Given the description of an element on the screen output the (x, y) to click on. 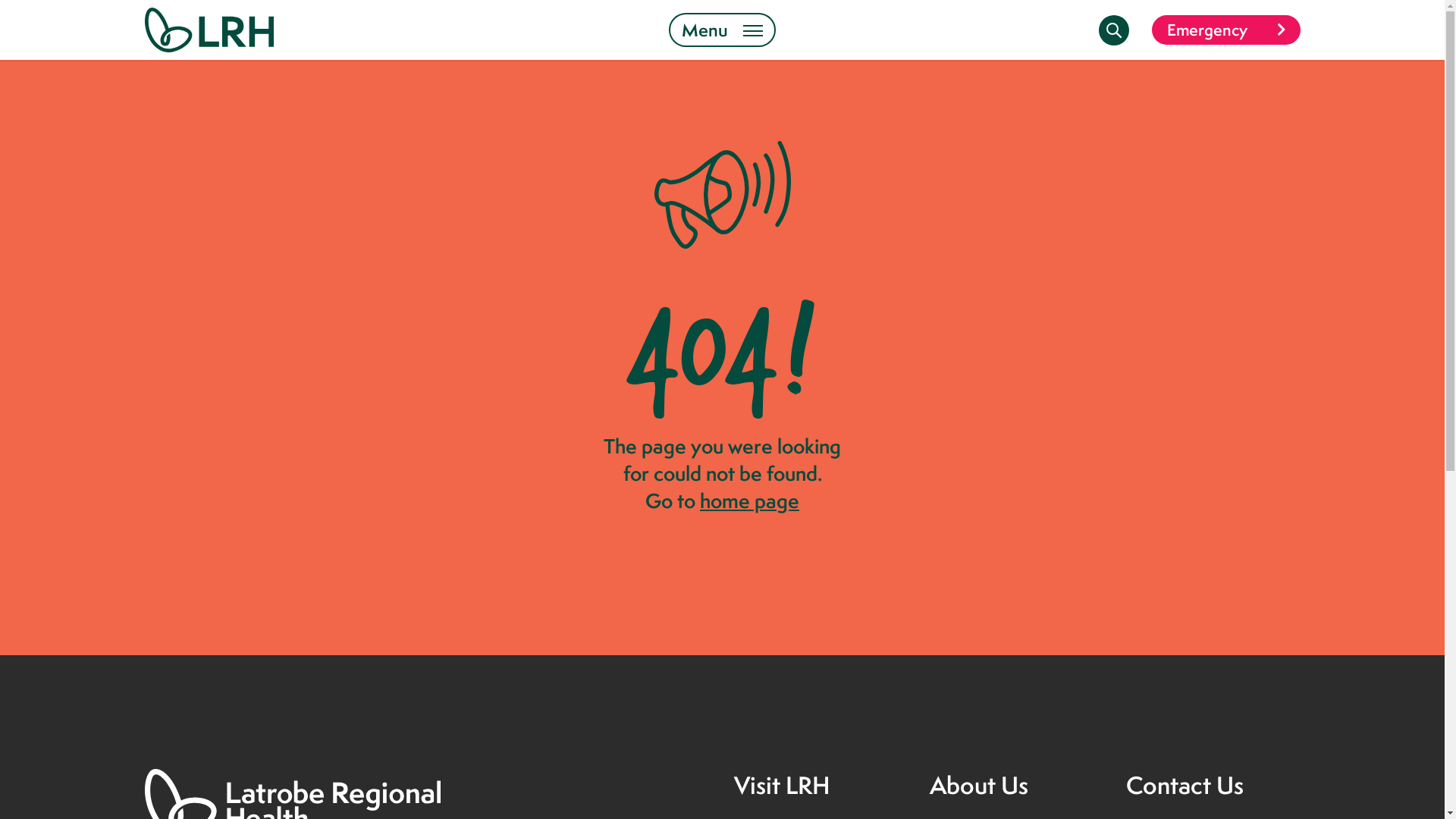
home page Element type: text (749, 500)
Emergency Element type: text (1225, 29)
